Given the description of an element on the screen output the (x, y) to click on. 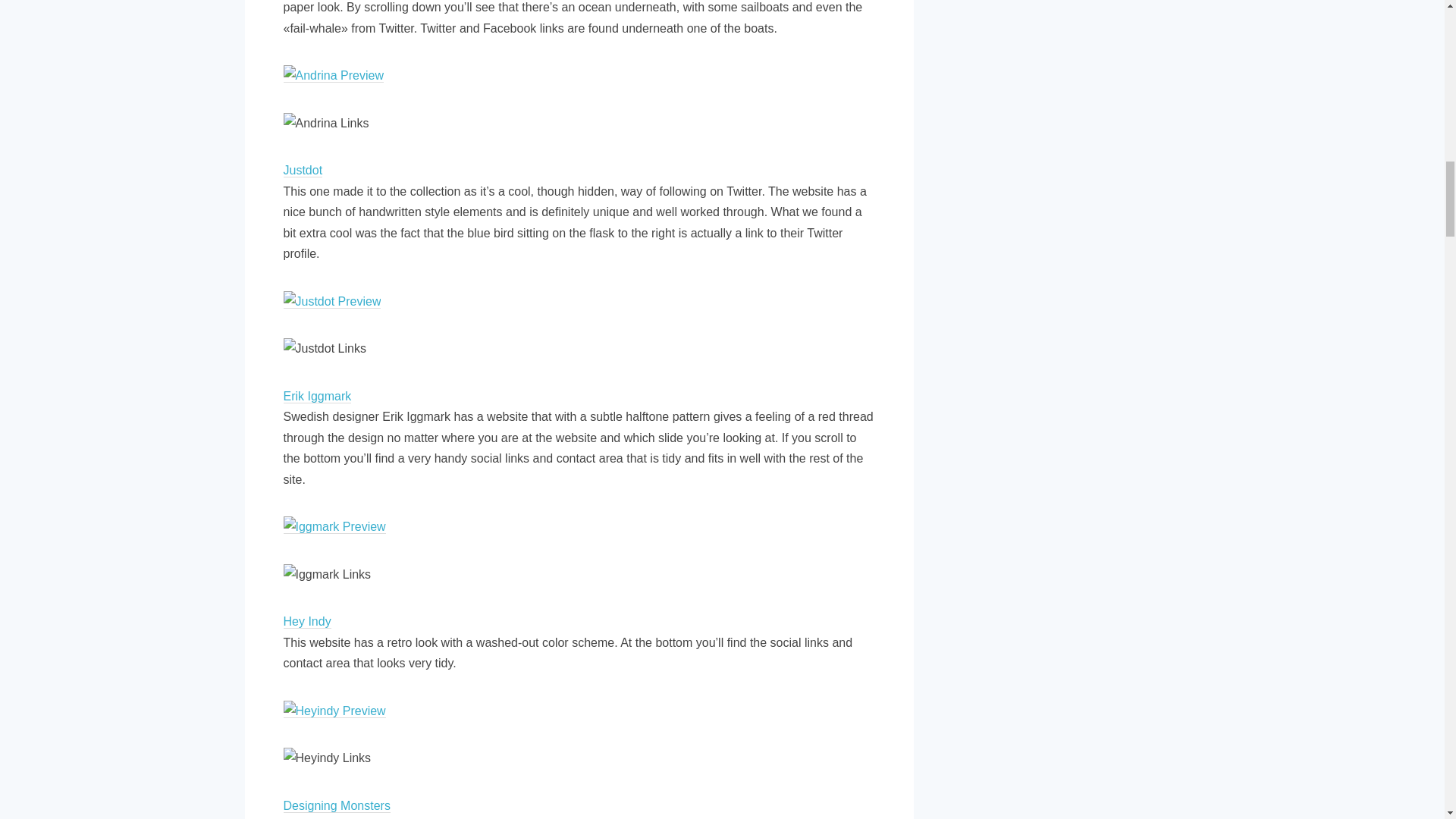
Heyindy Links (327, 758)
Hey Indy (307, 621)
Justdot Preview (332, 301)
Iggmark Links (327, 574)
Andrina Links (326, 123)
Justdot (303, 170)
Heyindy Preview (334, 711)
Iggmark Preview (334, 526)
Erik Iggmark (317, 396)
Designing Monsters (336, 806)
